Given the description of an element on the screen output the (x, y) to click on. 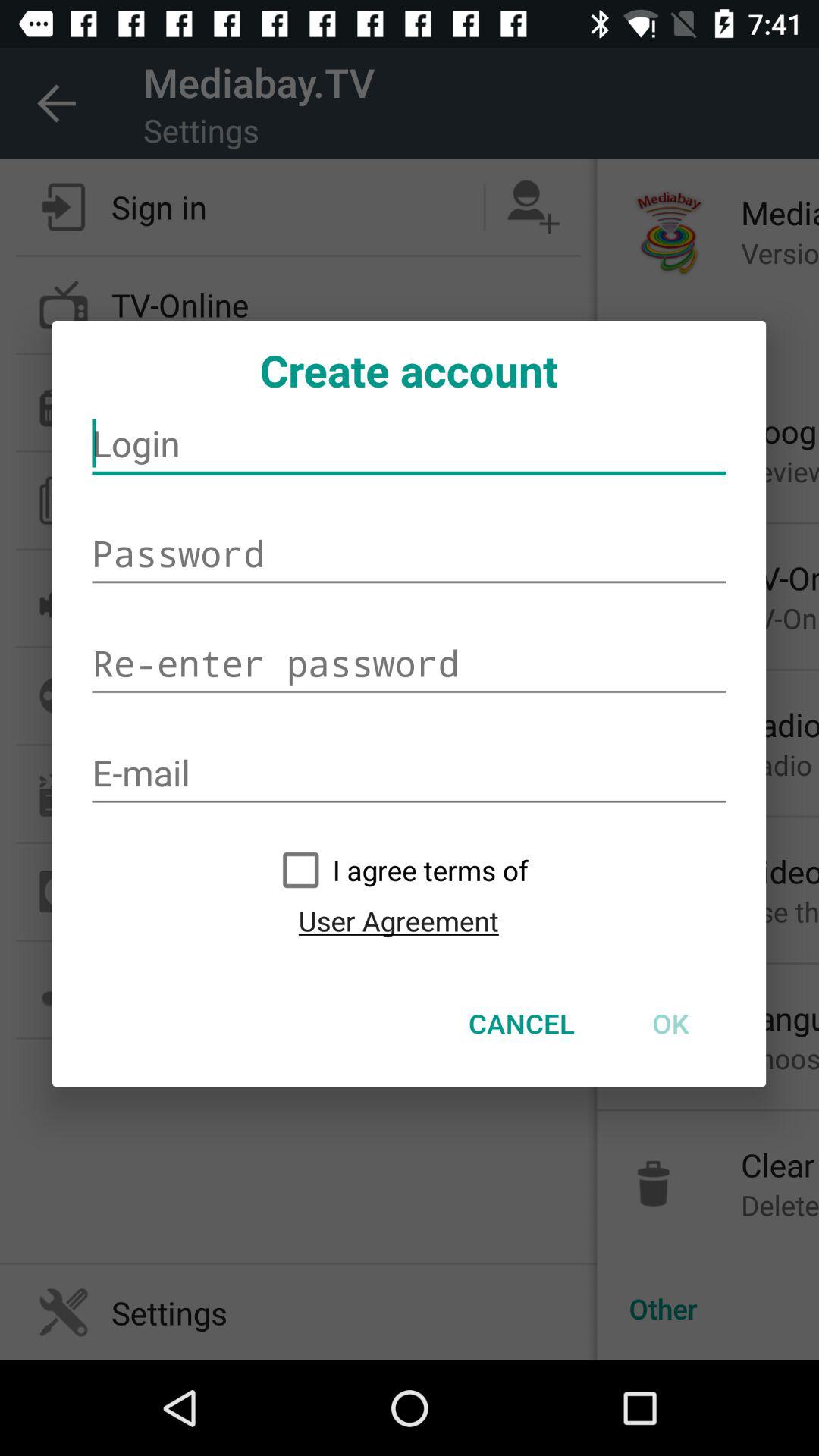
press icon to the right of the cancel (670, 1022)
